Given the description of an element on the screen output the (x, y) to click on. 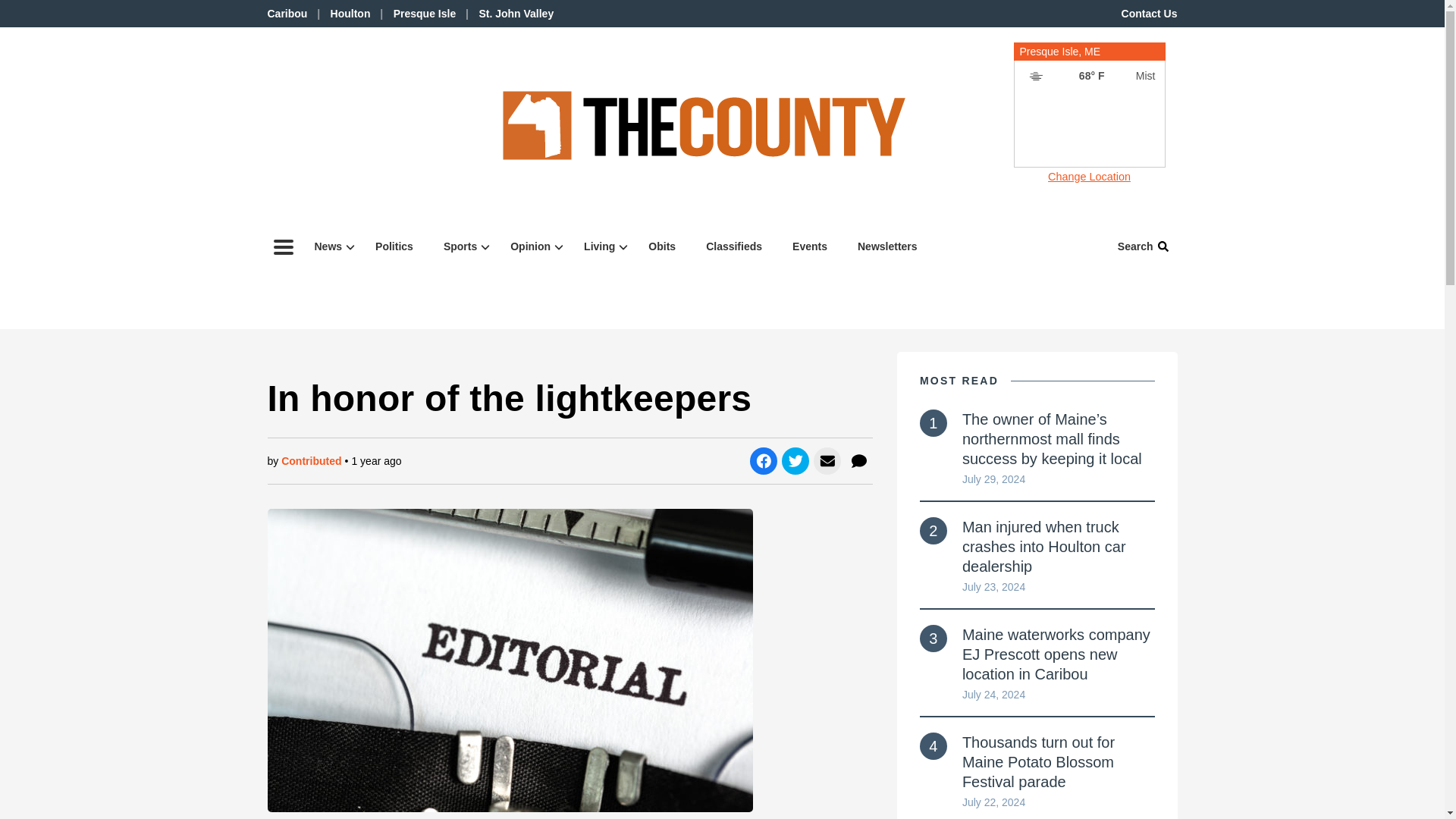
Sports (1088, 66)
Obits (461, 246)
In honor of the lightkeepers (661, 246)
Presque Isle (328, 246)
Contact Us (425, 13)
St. John Valley (1149, 13)
Opinion (516, 13)
Caribou (532, 246)
Classifieds (286, 13)
Politics (733, 246)
Newsletters (393, 246)
Houlton (888, 246)
Events (350, 13)
